Given the description of an element on the screen output the (x, y) to click on. 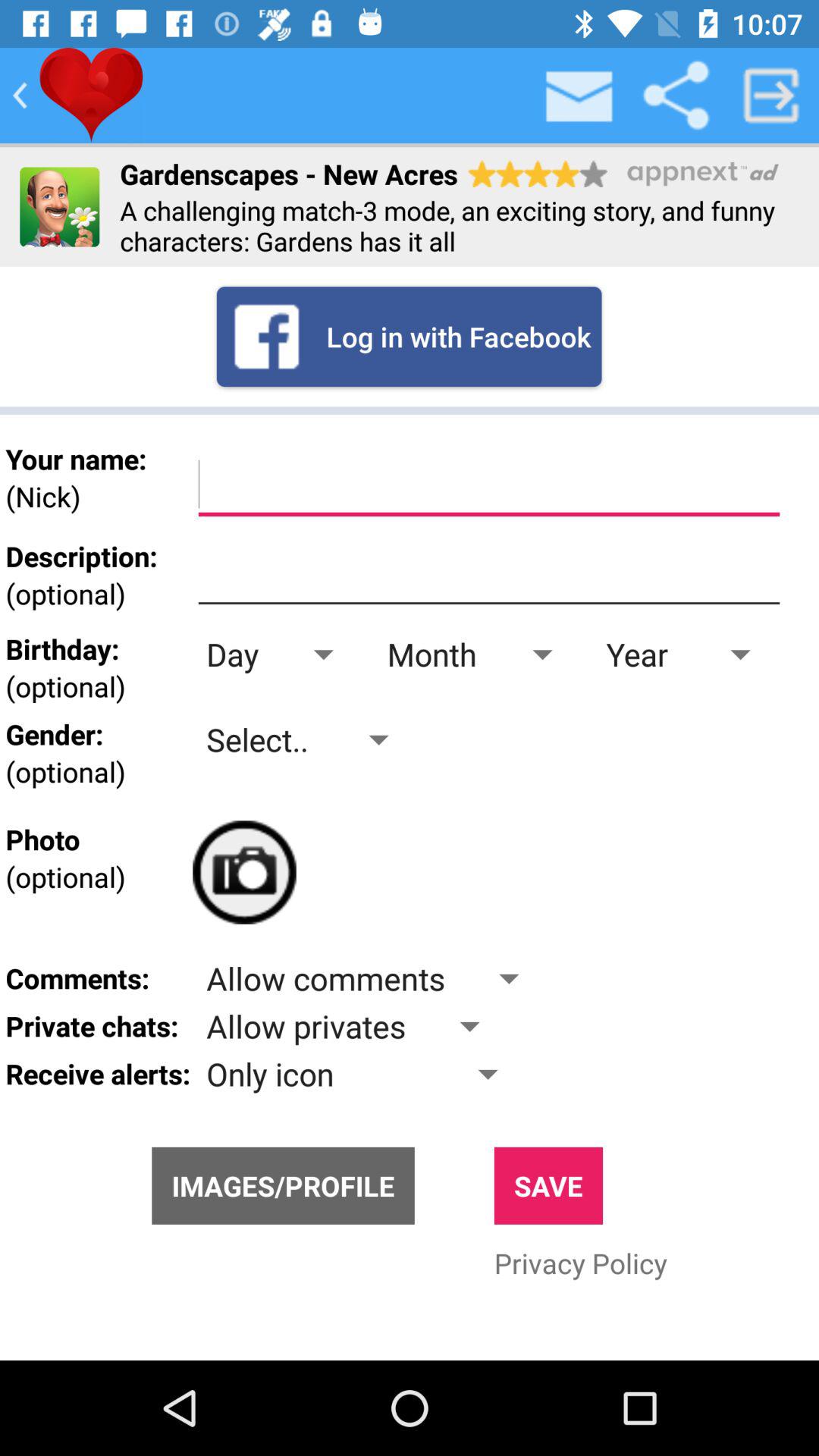
description entry (488, 574)
